Given the description of an element on the screen output the (x, y) to click on. 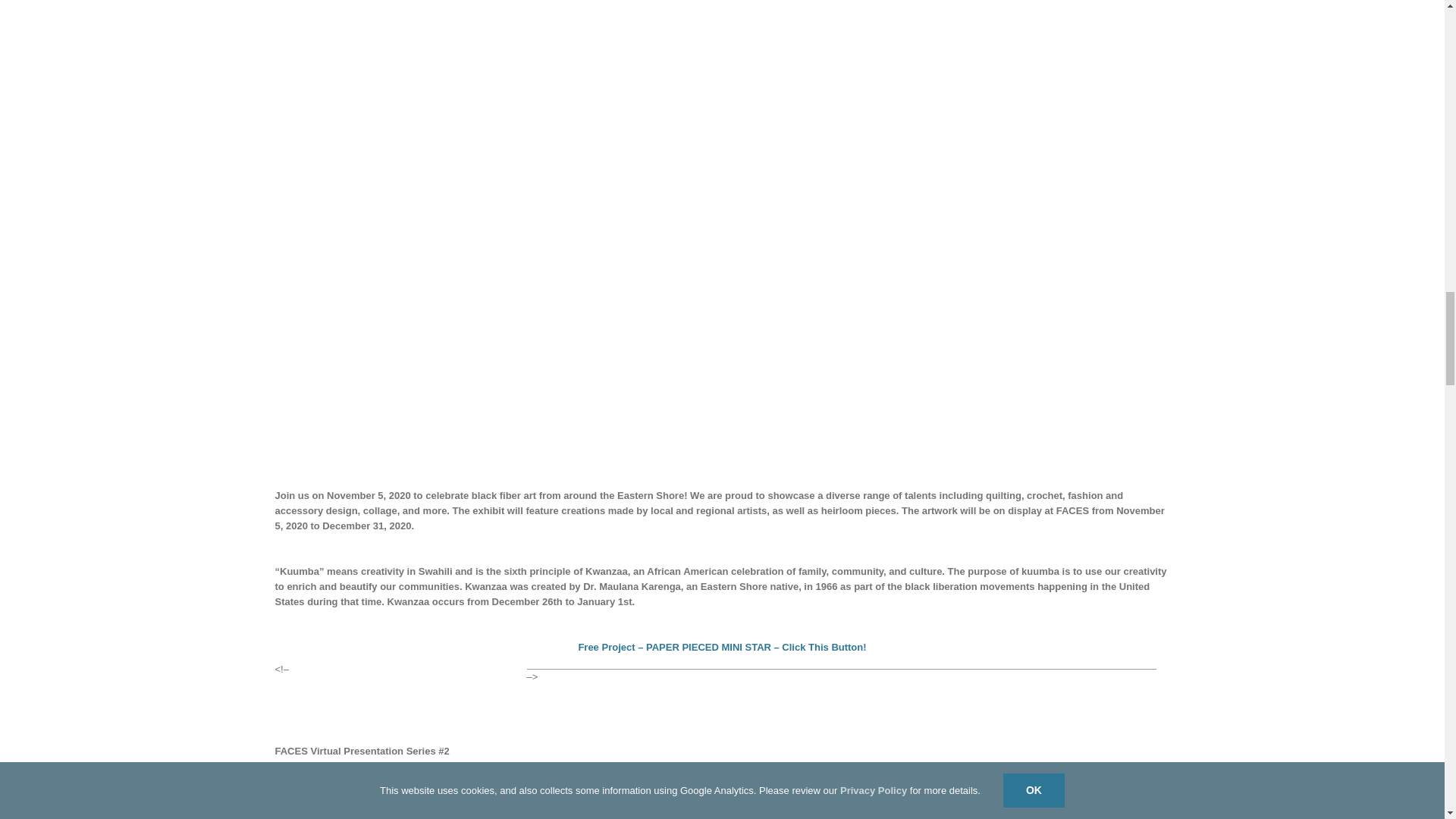
Free Project - PAPER PIECED MINI STAR - Click This Button! (722, 646)
